Given the description of an element on the screen output the (x, y) to click on. 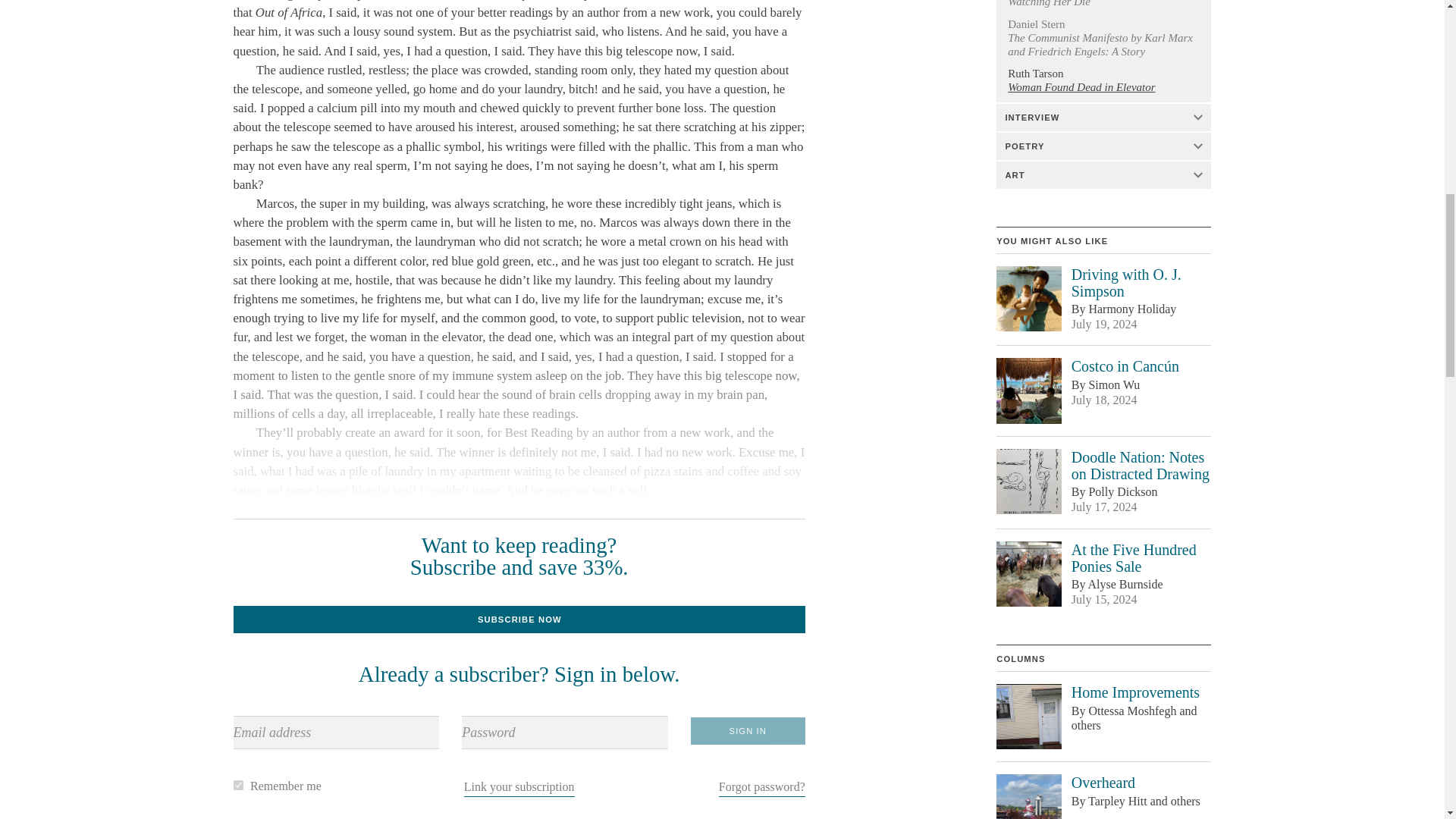
Sign In (747, 730)
remember (237, 785)
